Given the description of an element on the screen output the (x, y) to click on. 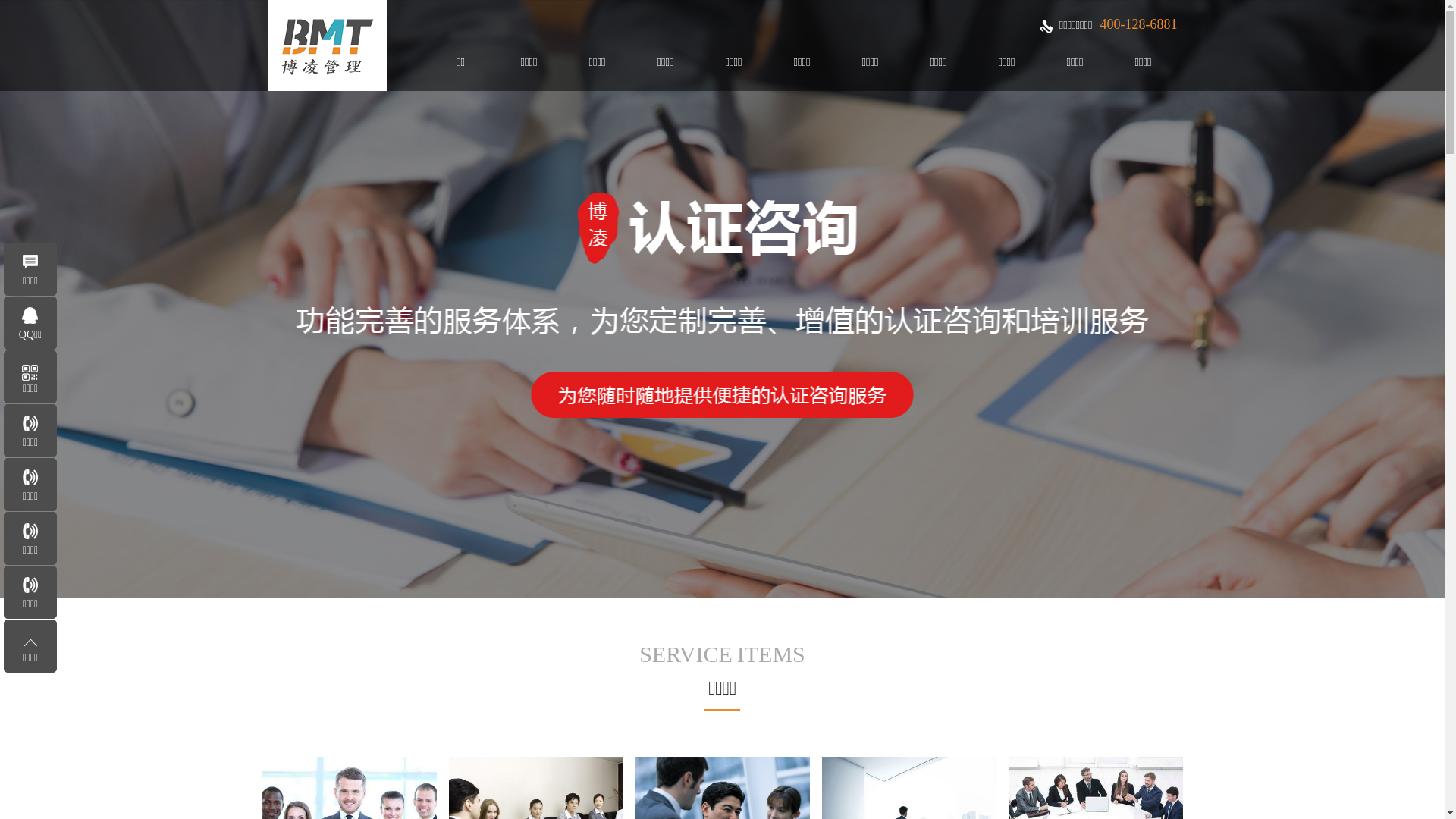
banner Element type: hover (722, 298)
